Given the description of an element on the screen output the (x, y) to click on. 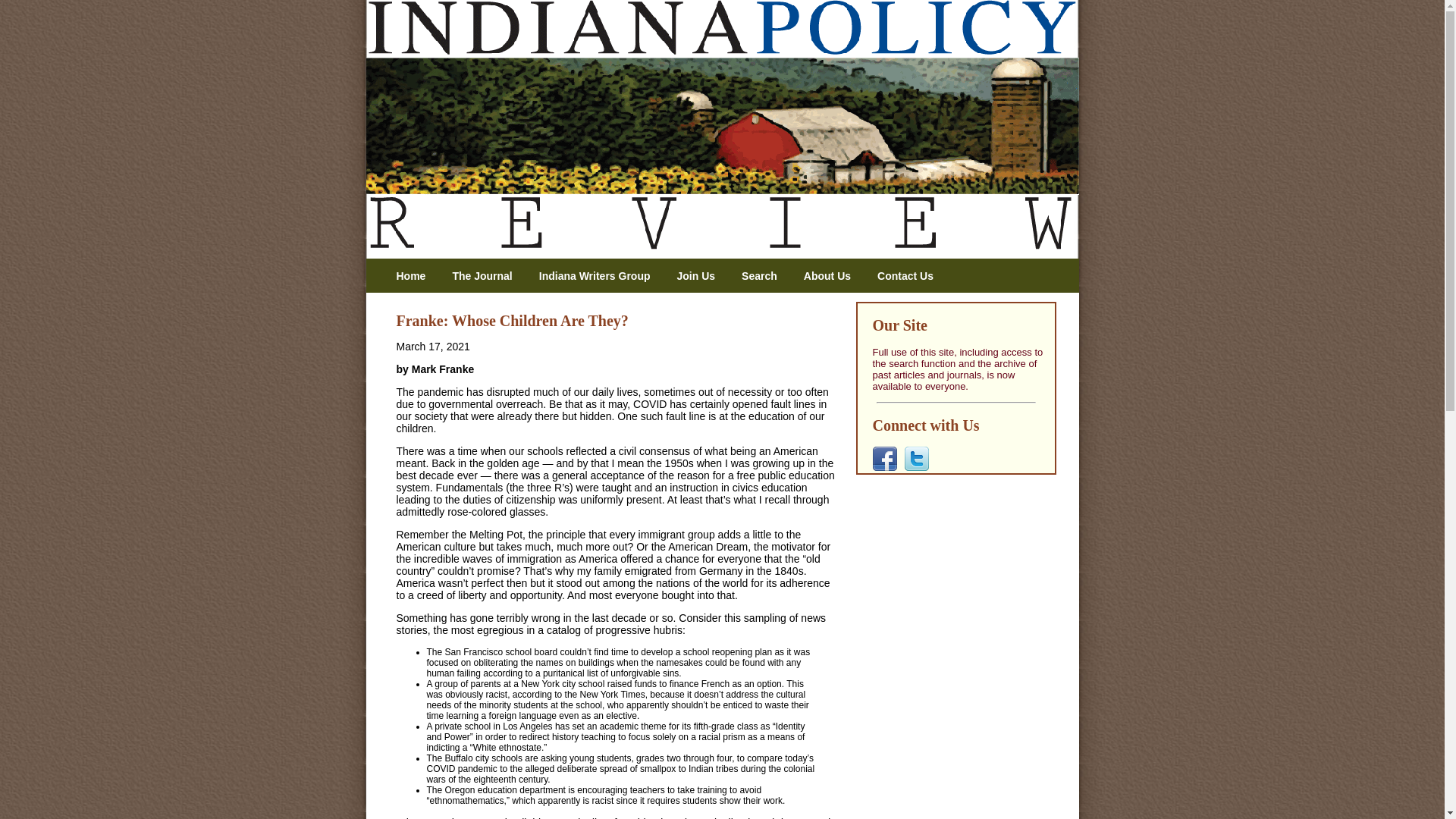
About Us (832, 275)
The Journal (486, 275)
Contact Us (910, 275)
Search (765, 275)
Home (416, 275)
Join Us (701, 275)
Indiana Writers Group (600, 275)
